Given the description of an element on the screen output the (x, y) to click on. 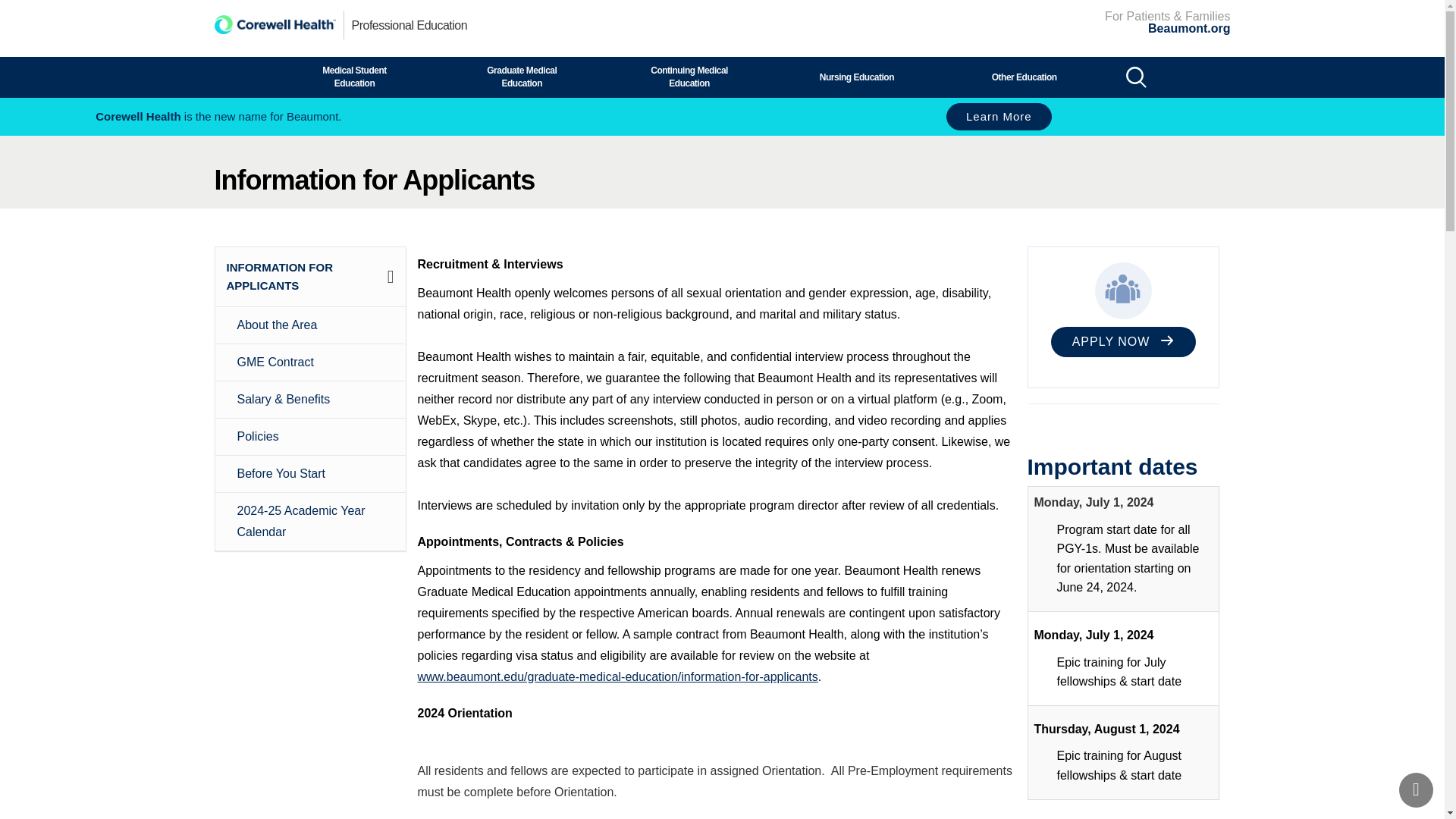
Back to home page (274, 24)
Learn More (998, 116)
INFORMATION FOR APPLICANTS (279, 276)
Graduate Medical Education (521, 76)
APPLY NOW (1123, 341)
2024-25 Academic Year Calendar (314, 521)
GME Contract (314, 362)
About the Area (314, 324)
Other Education (1024, 76)
Continuing Medical Education (689, 76)
Before You Start (314, 473)
Policies (314, 436)
Nursing Education (856, 76)
Medical Student Education (354, 76)
